Given the description of an element on the screen output the (x, y) to click on. 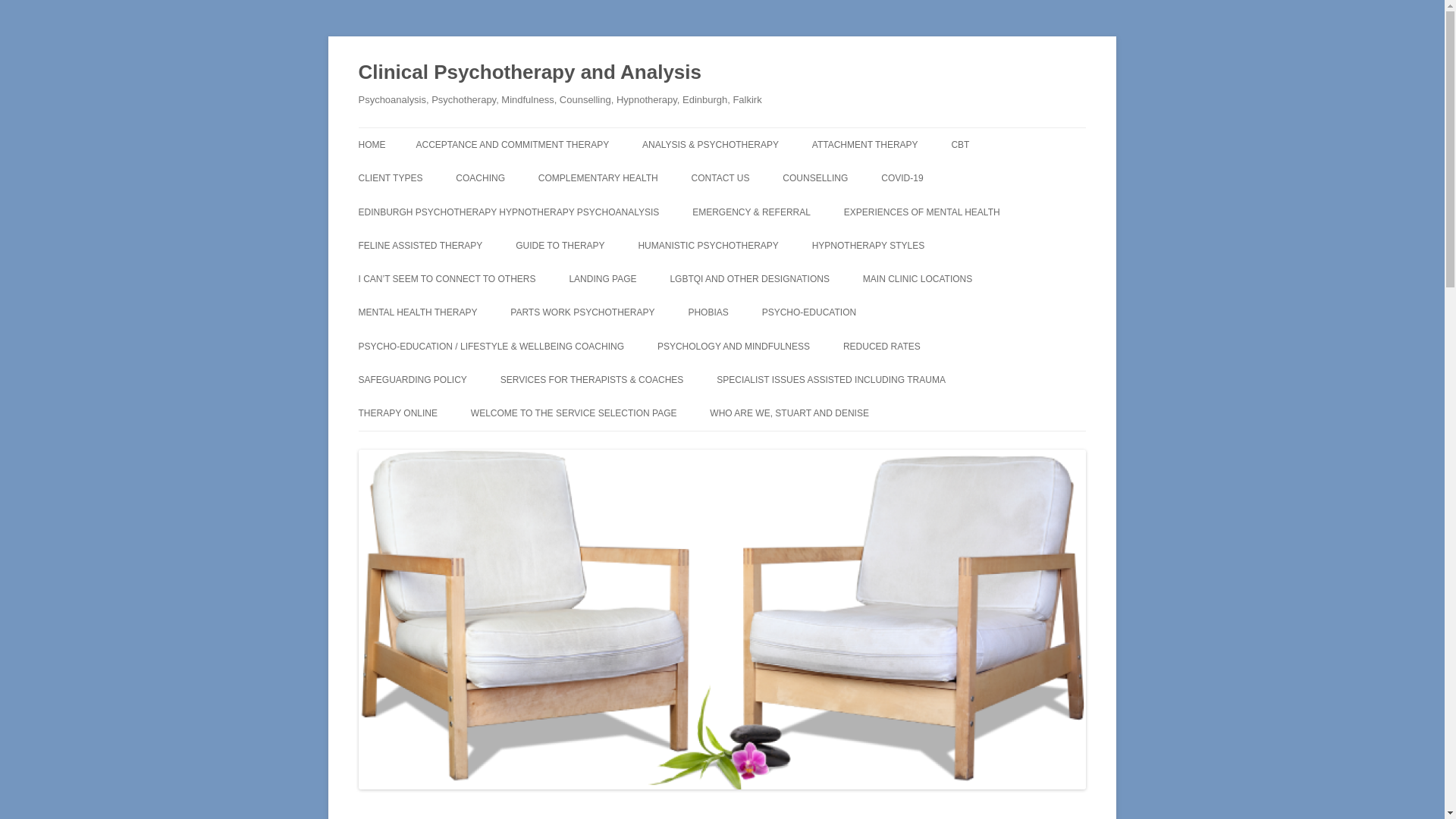
COUPLES (858, 210)
EXECUTIVE LIFE COACHING AND MOTIVATIONAL COACHING (531, 219)
Clinical Psychotherapy and Analysis (529, 72)
CHILDREN AND ADOLESCENTS (433, 210)
COACHING (480, 177)
ACCEPTANCE AND COMMITMENT THERAPY (511, 144)
CLIENT TYPES (390, 177)
COGNITIVE BEHAVIOURAL ANALYSIS (1026, 185)
CONTACT US (720, 177)
Skip to content (757, 132)
